Given the description of an element on the screen output the (x, y) to click on. 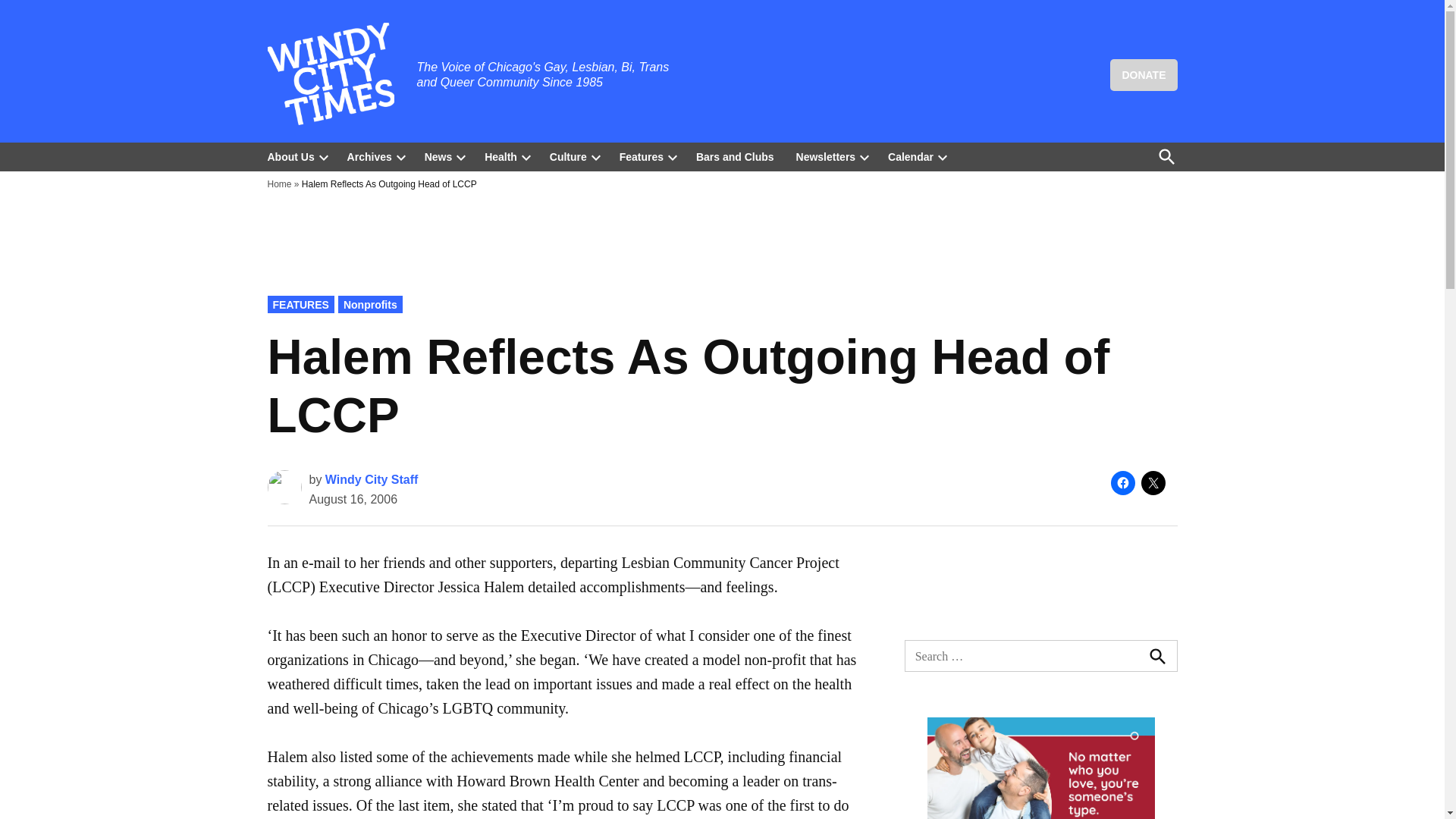
Click to share on X (1152, 482)
Click to share on Facebook (1121, 482)
